Given the description of an element on the screen output the (x, y) to click on. 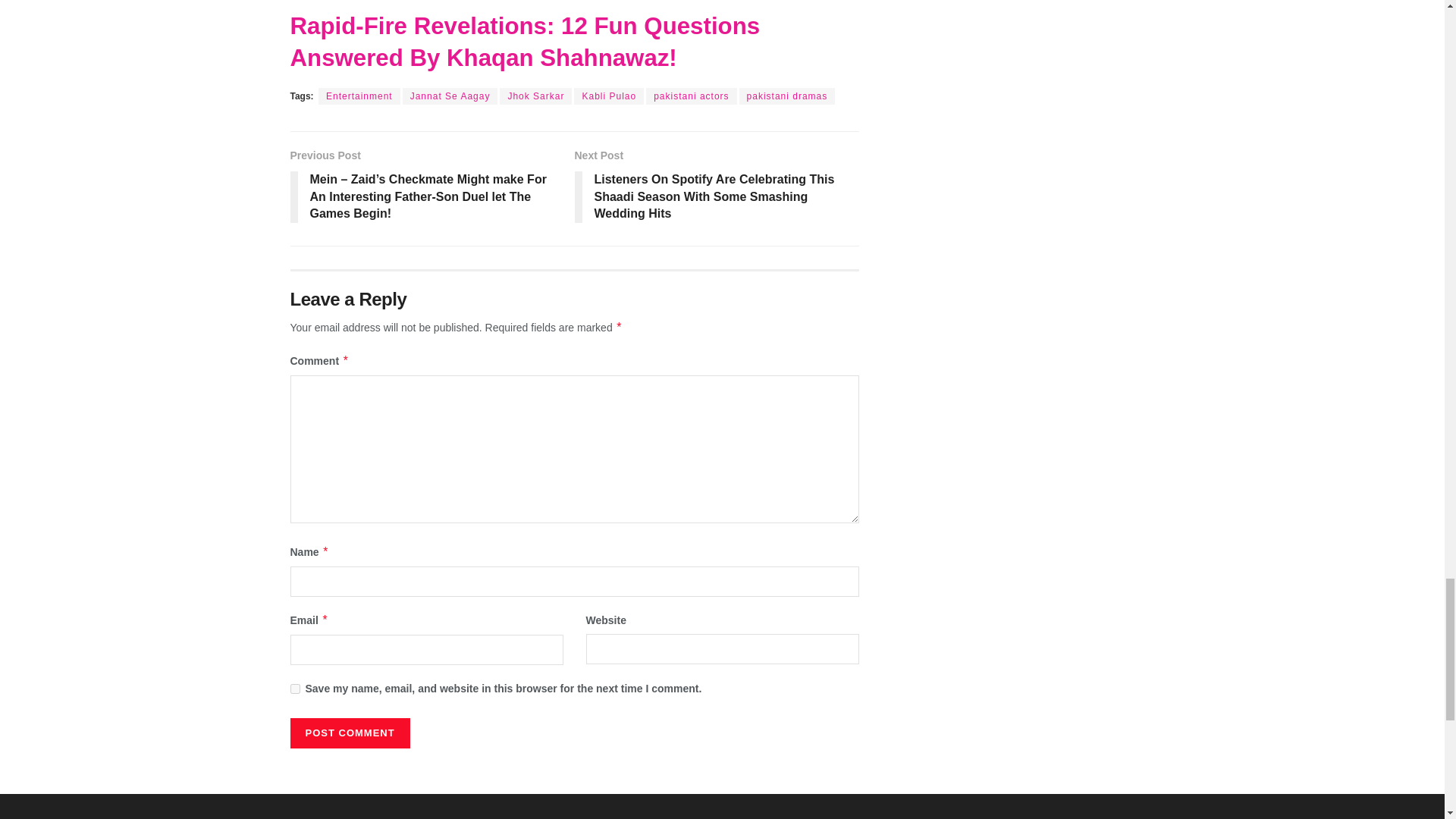
Post Comment (349, 733)
yes (294, 688)
